Given the description of an element on the screen output the (x, y) to click on. 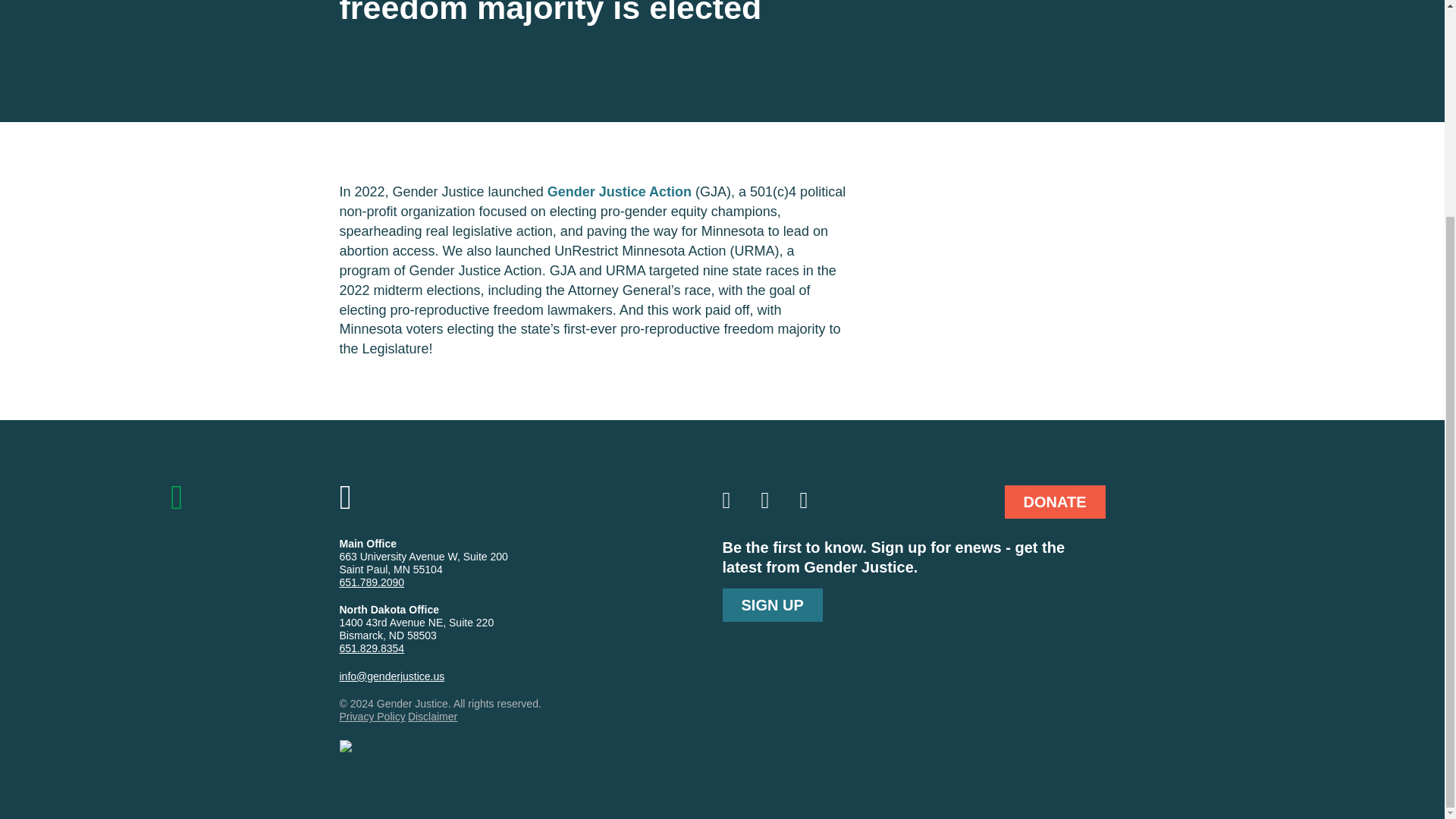
SIGN UP (772, 604)
Disclaimer (432, 716)
Privacy Policy (372, 716)
651.789.2090 (371, 582)
651.829.8354 (371, 648)
Gender Justice Action (619, 191)
DONATE (1054, 501)
